Given the description of an element on the screen output the (x, y) to click on. 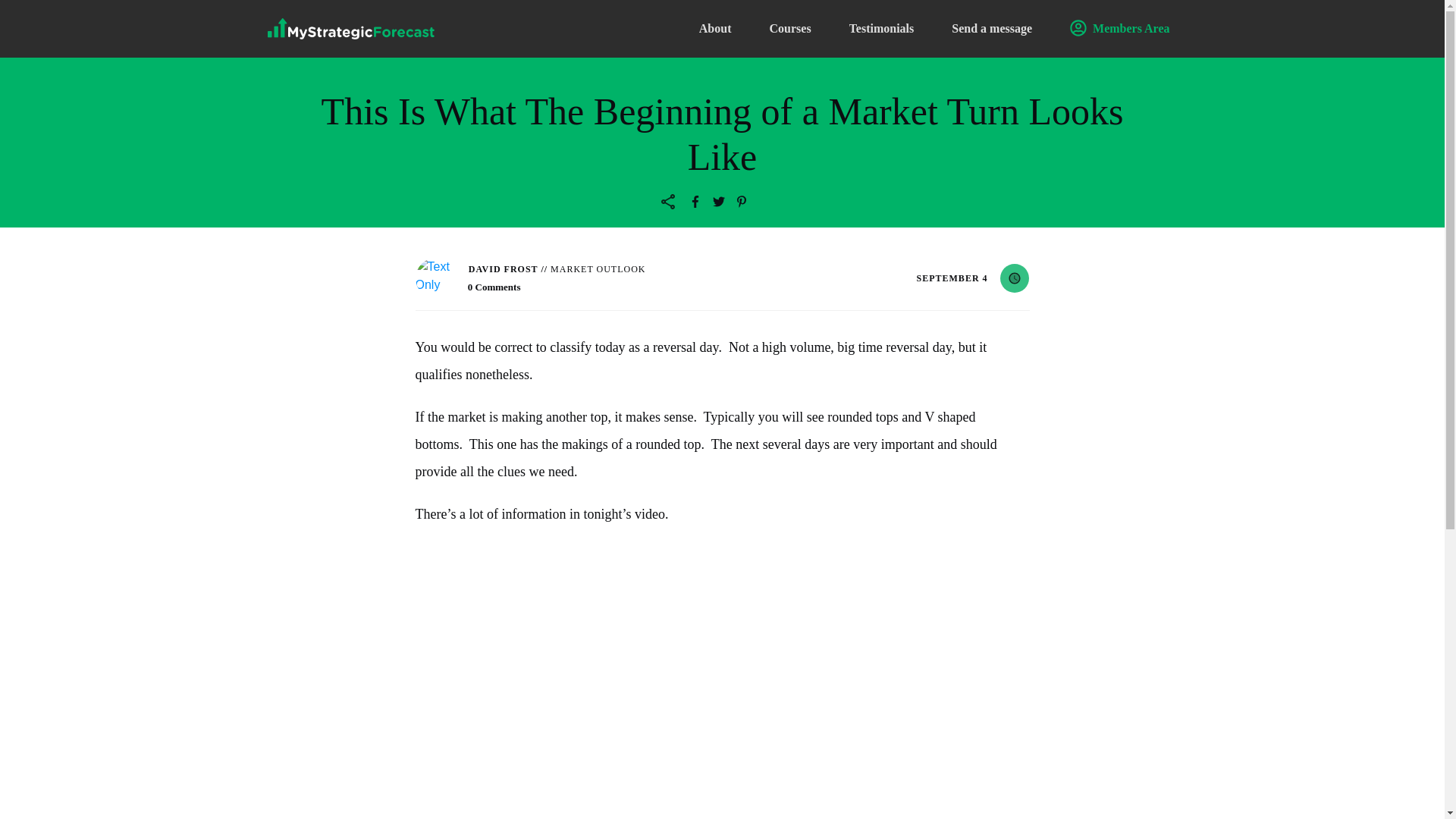
MARKET OUTLOOK (597, 268)
Text Only (435, 277)
About (715, 28)
Send a message (992, 28)
Market Outlook (597, 268)
Courses (789, 28)
Testimonials (881, 28)
Members Area (1119, 28)
